Given the description of an element on the screen output the (x, y) to click on. 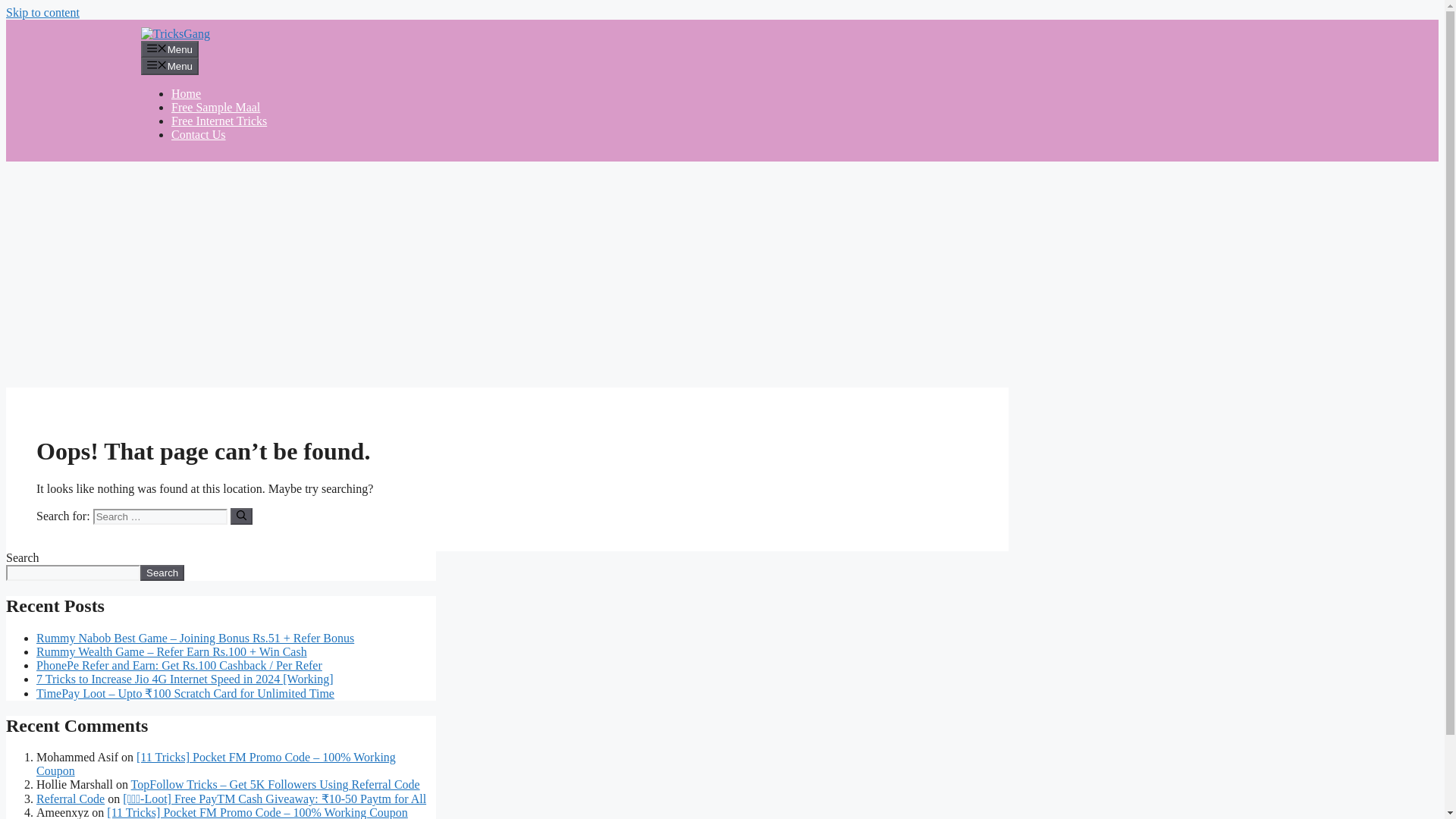
Search for: (160, 516)
Contact Us (198, 133)
Menu (169, 48)
Skip to content (42, 11)
Referral Code (70, 798)
Free Internet Tricks (218, 120)
Search (161, 572)
Free Sample Maal (215, 106)
Menu (169, 65)
Skip to content (42, 11)
